Given the description of an element on the screen output the (x, y) to click on. 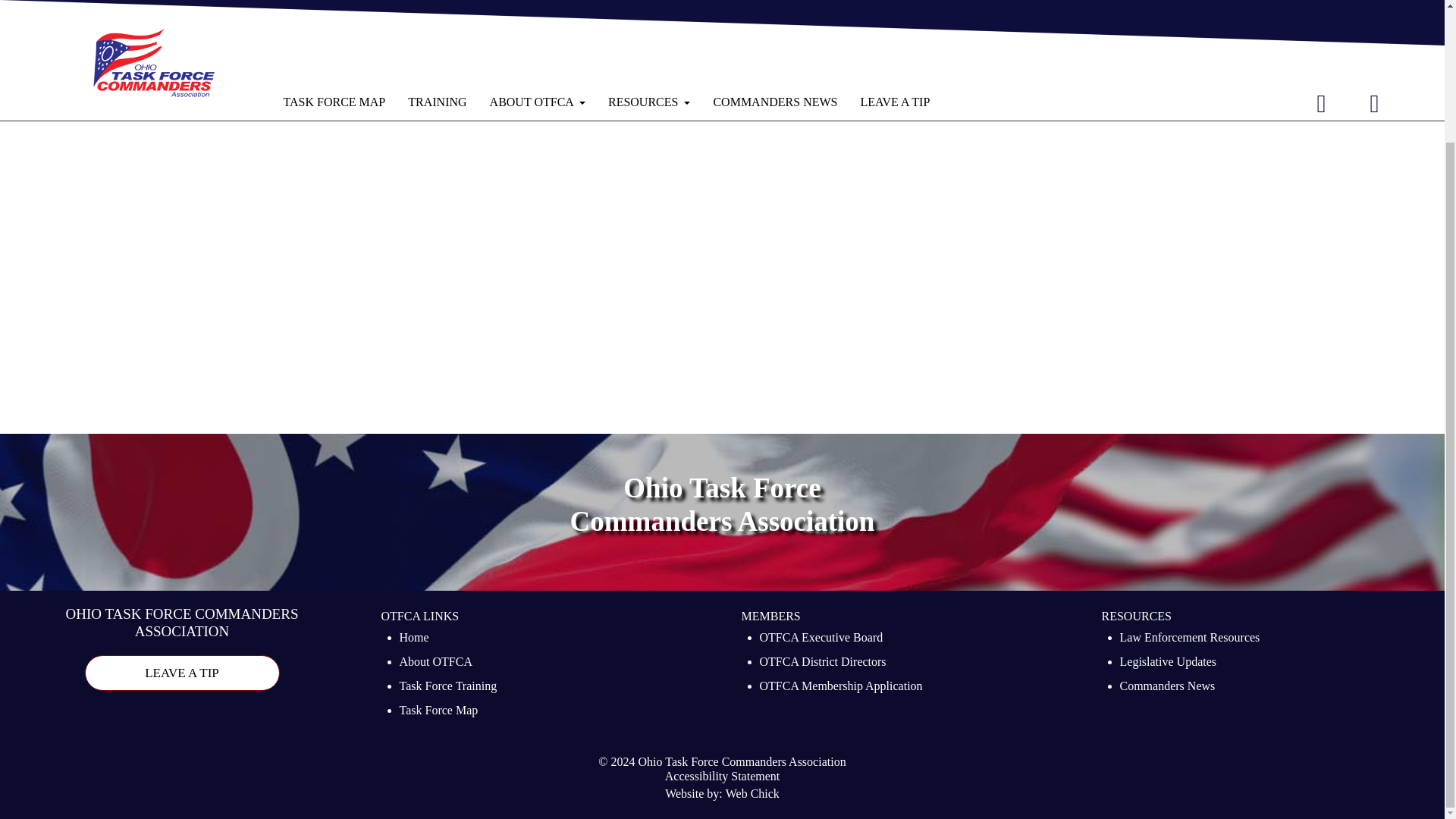
Task Force Training (447, 687)
Commanders News (1166, 687)
About OTFCA (434, 663)
Law Enforcement Resources (1189, 639)
leave a tip button (181, 673)
Task Force Map (437, 711)
OTFCA Membership Application (841, 687)
LEAVE A TIP (181, 673)
OTFCA Executive Board (821, 639)
home page (460, 25)
